Given the description of an element on the screen output the (x, y) to click on. 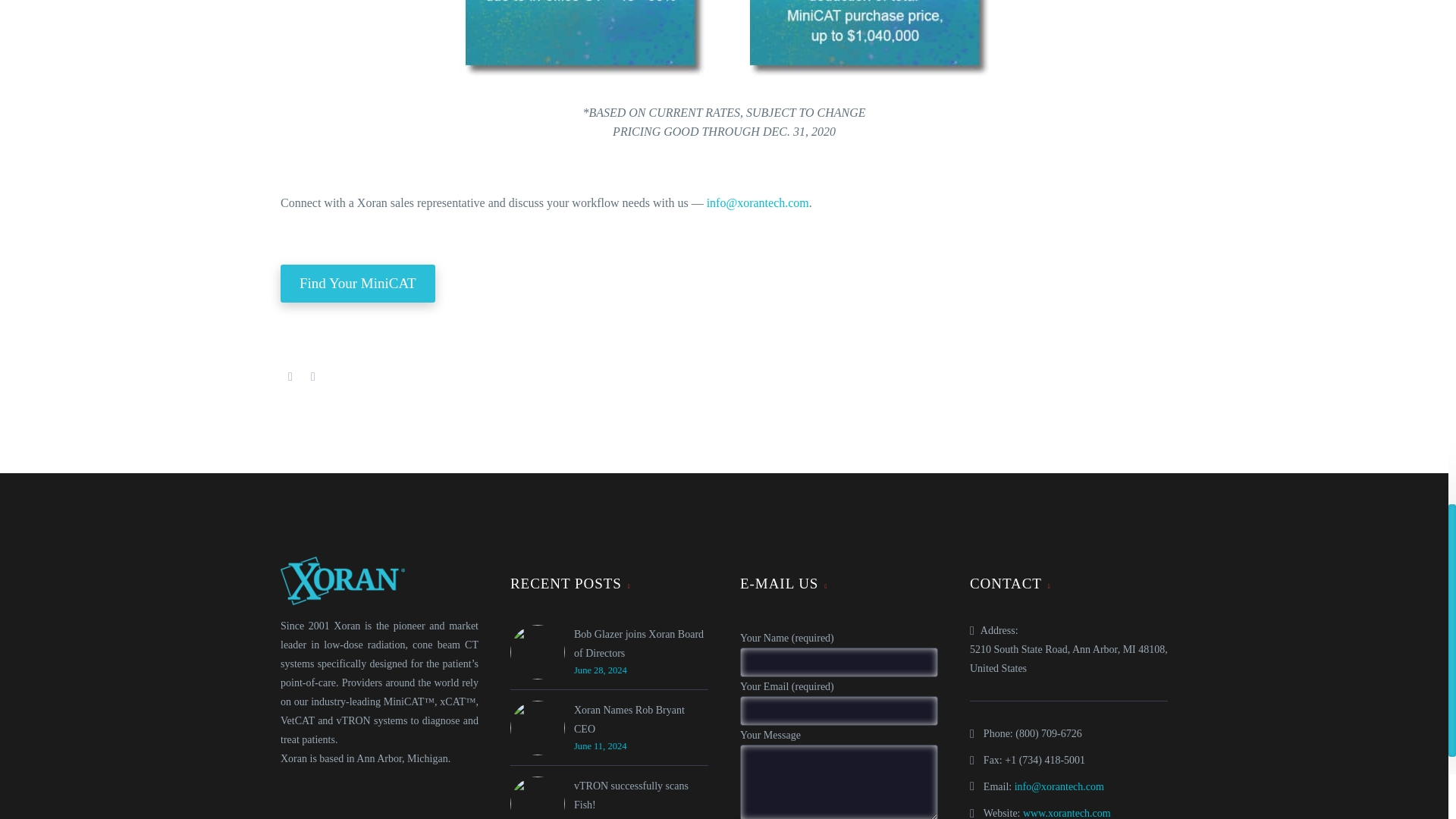
LinkedIn (312, 377)
Twitter (290, 377)
point-of-care-ct (724, 38)
